Given the description of an element on the screen output the (x, y) to click on. 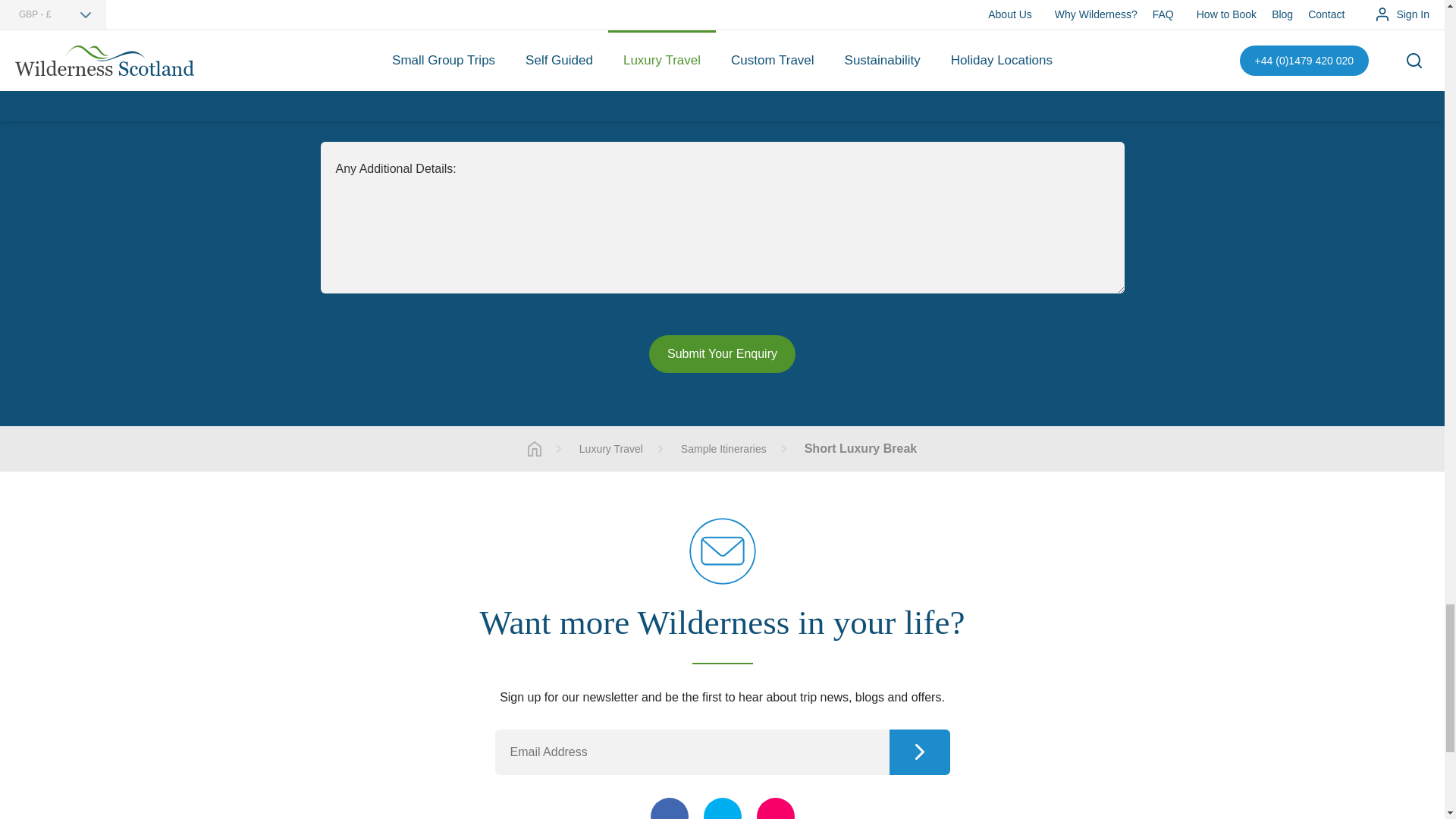
Submit Your Enquiry (721, 353)
